Given the description of an element on the screen output the (x, y) to click on. 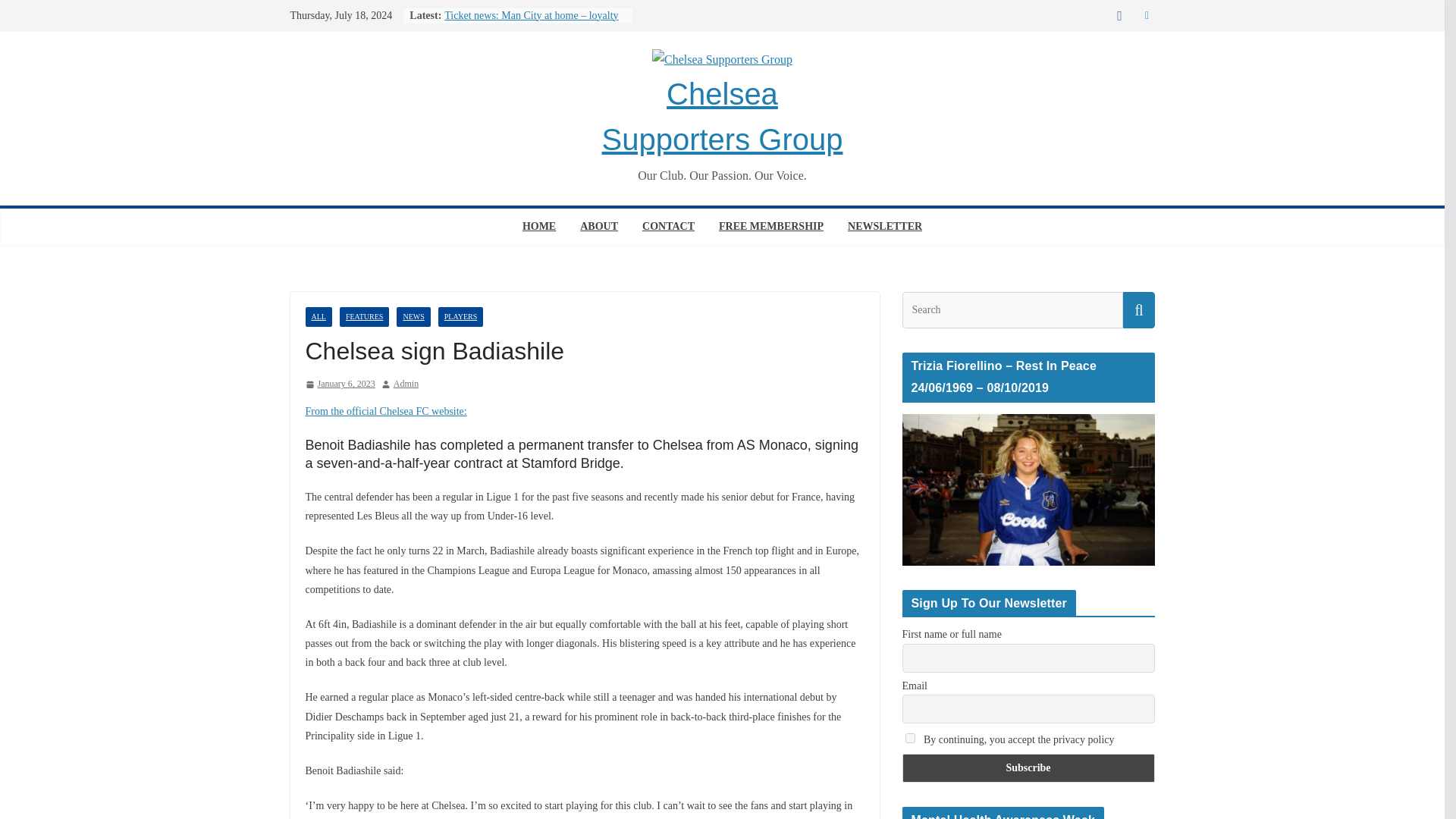
NEWSLETTER (884, 227)
8:34 am (339, 384)
CONTACT (668, 227)
ABOUT (598, 227)
on (910, 737)
From the official Chelsea FC website: (384, 410)
Admin (406, 384)
Subscribe (1028, 767)
FREE MEMBERSHIP (771, 227)
Chelsea Supporters Group (722, 116)
HOME (539, 227)
FEATURES (363, 316)
NEWS (412, 316)
ALL (317, 316)
Chelsea Supporters Group (722, 116)
